Given the description of an element on the screen output the (x, y) to click on. 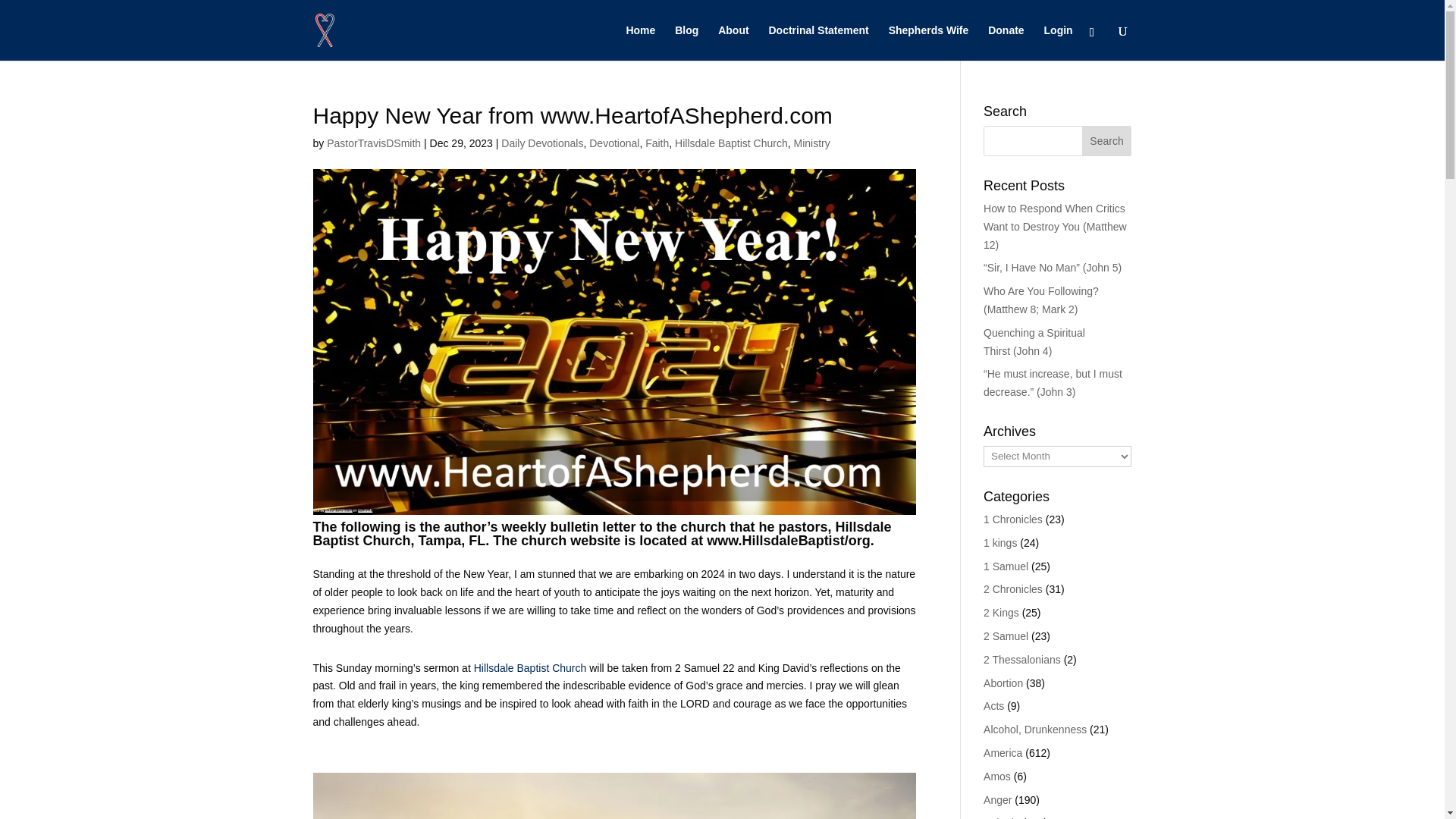
3 - Heart - front (614, 796)
Daily Devotionals (541, 143)
Search (1106, 141)
Donate (1005, 42)
1 Chronicles (1013, 519)
Ministry (811, 143)
Faith (656, 143)
Search (1106, 141)
Hillsdale Baptist Church (530, 667)
Posts by PastorTravisDSmith (373, 143)
Hillsdale Baptist Church (731, 143)
Shepherds Wife (928, 42)
Doctrinal Statement (818, 42)
Devotional (614, 143)
1 kings (1000, 542)
